Given the description of an element on the screen output the (x, y) to click on. 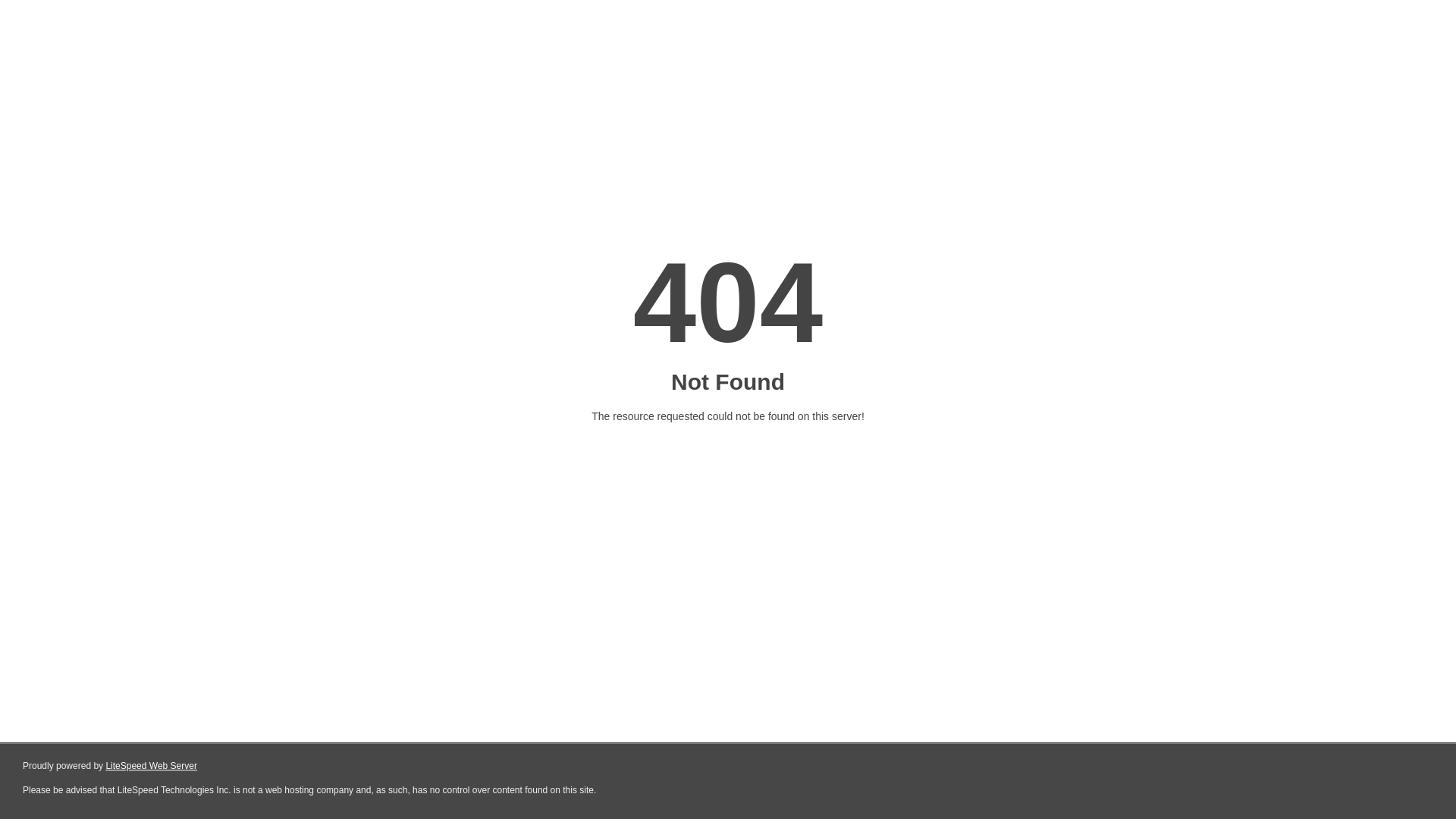
LiteSpeed Web Server Element type: text (151, 765)
